Given the description of an element on the screen output the (x, y) to click on. 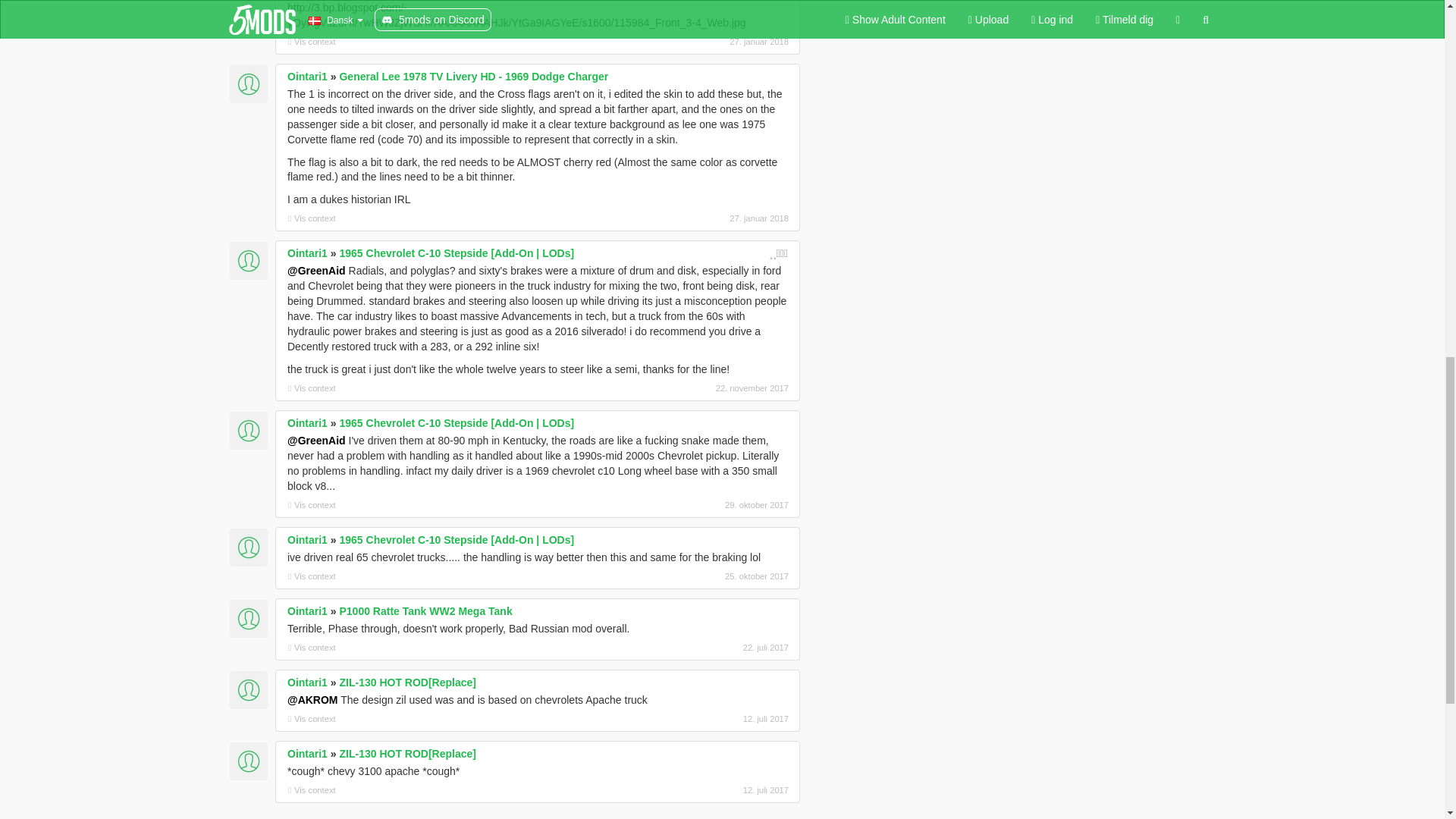
29. oktober 2017, 10.15 (708, 504)
Godt (777, 253)
22. november 2017, 20.25 (708, 387)
27. januar 2018, 14.32 (708, 41)
27. januar 2018, 14.28 (708, 218)
